Given the description of an element on the screen output the (x, y) to click on. 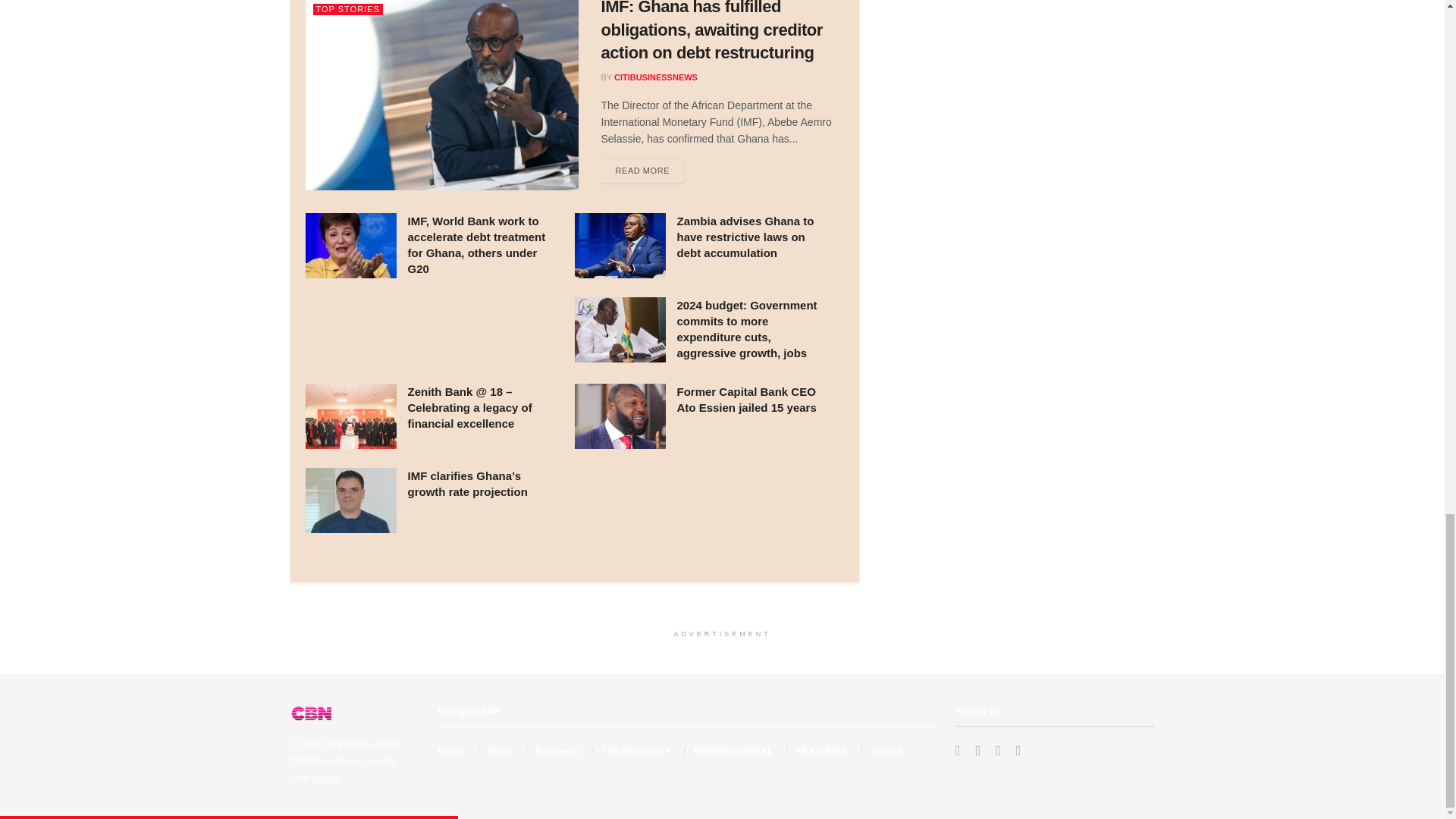
CNR Digital (313, 778)
Citi Business News (360, 744)
